Given the description of an element on the screen output the (x, y) to click on. 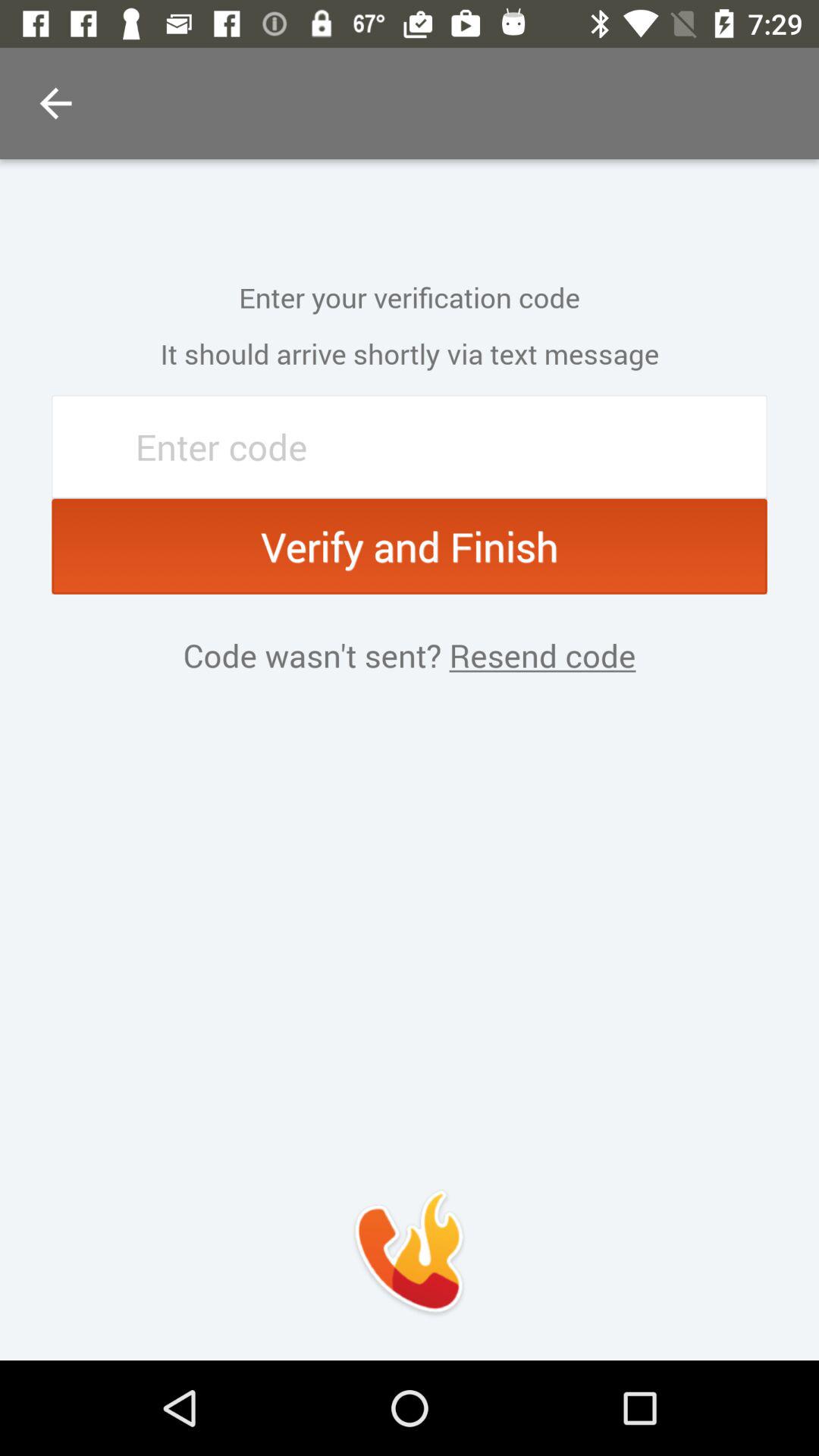
turn on item below verify and finish (538, 655)
